Given the description of an element on the screen output the (x, y) to click on. 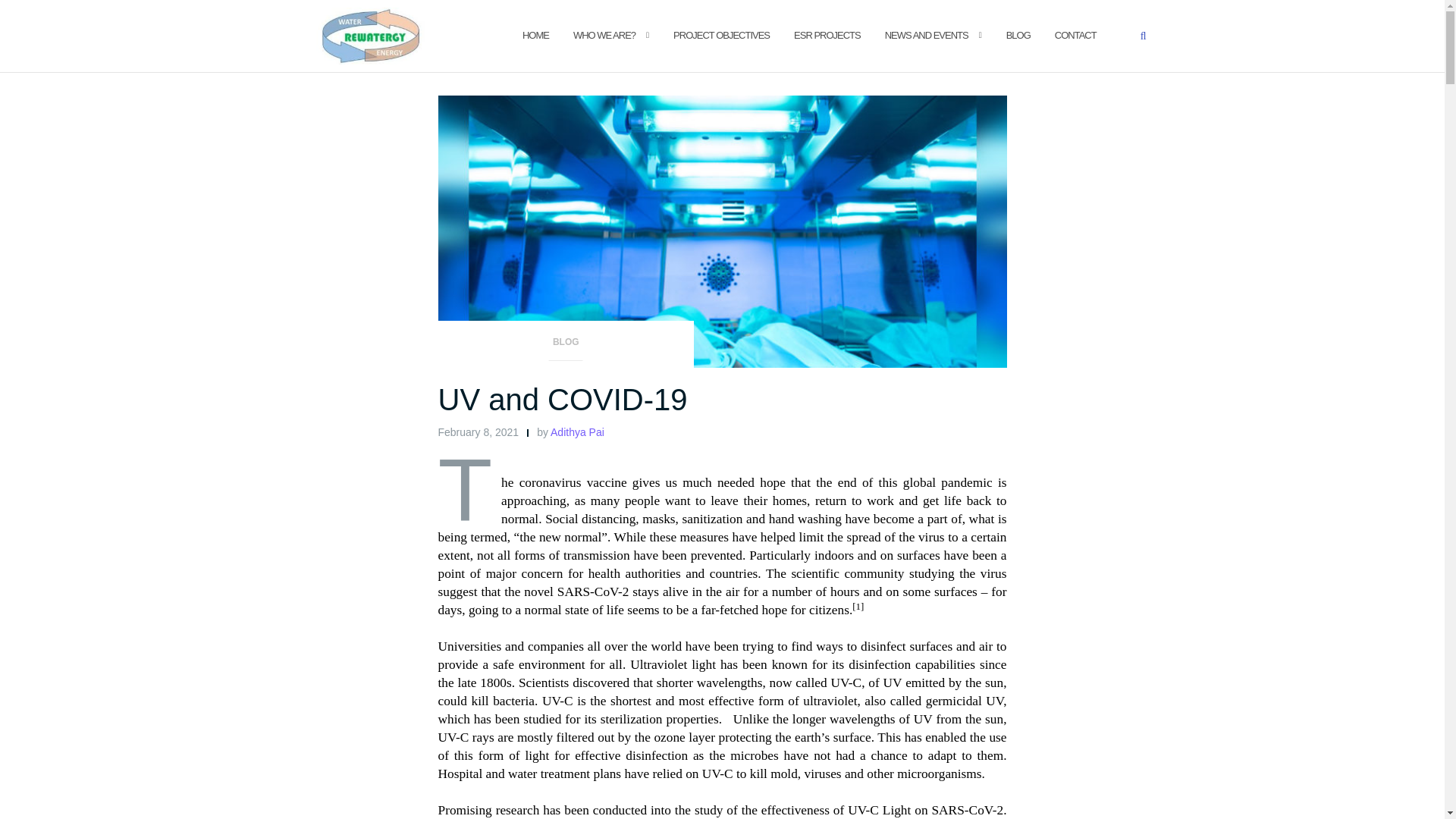
NEWS AND EVENTS (926, 35)
Adithya Pai (577, 431)
News and events (926, 35)
PROJECT OBJECTIVES (721, 35)
Adithya Pai (577, 431)
ESR Projects (826, 35)
Contact (1075, 35)
Project objectives (721, 35)
CONTACT (1075, 35)
ESR PROJECTS (826, 35)
WHO WE ARE? (603, 35)
UV and COVID-19 (562, 399)
BLOG (566, 346)
Who we are? (603, 35)
